Given the description of an element on the screen output the (x, y) to click on. 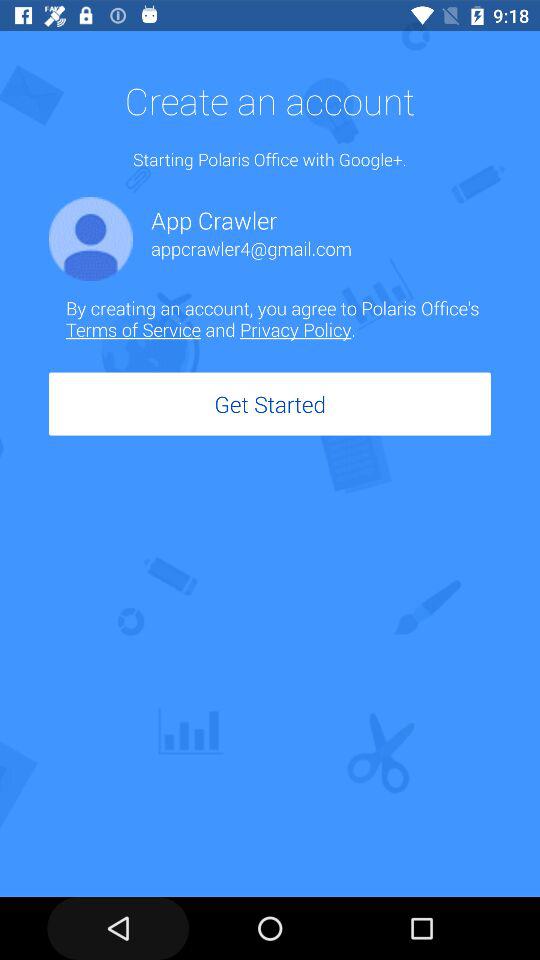
select get started (269, 403)
